Given the description of an element on the screen output the (x, y) to click on. 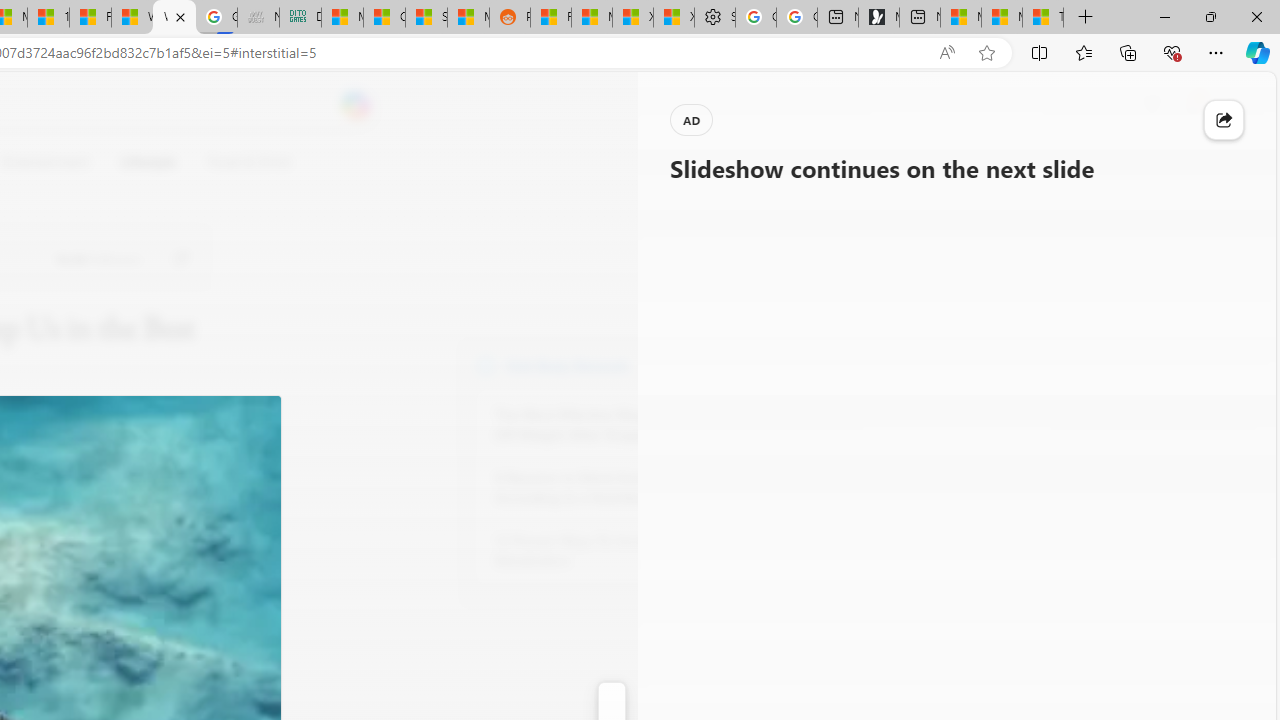
R******* | Trusted Community Engagement and Contributions (550, 17)
Class: at-item immersive (1224, 120)
